Given the description of an element on the screen output the (x, y) to click on. 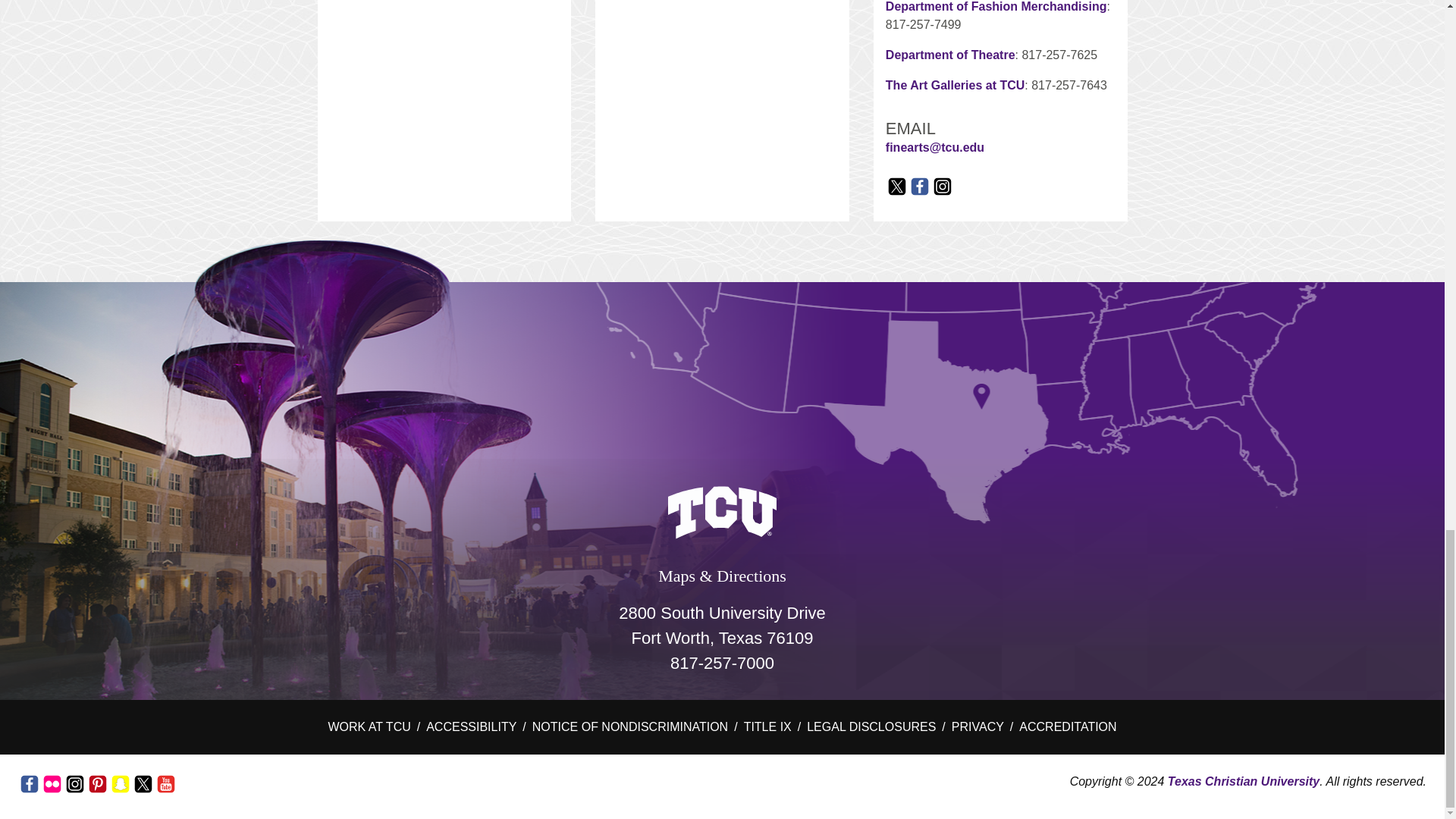
The official TCU's Facebook account (28, 784)
The official TCU's  Flickr account (52, 784)
The official TCU's Pinterest account (97, 784)
The official TCU's  Instagram account (74, 784)
The official TCU's Snapchat account (120, 784)
Instagram (942, 193)
The official TCU's Twitter account (143, 784)
Facebook (919, 193)
X (896, 193)
